Given the description of an element on the screen output the (x, y) to click on. 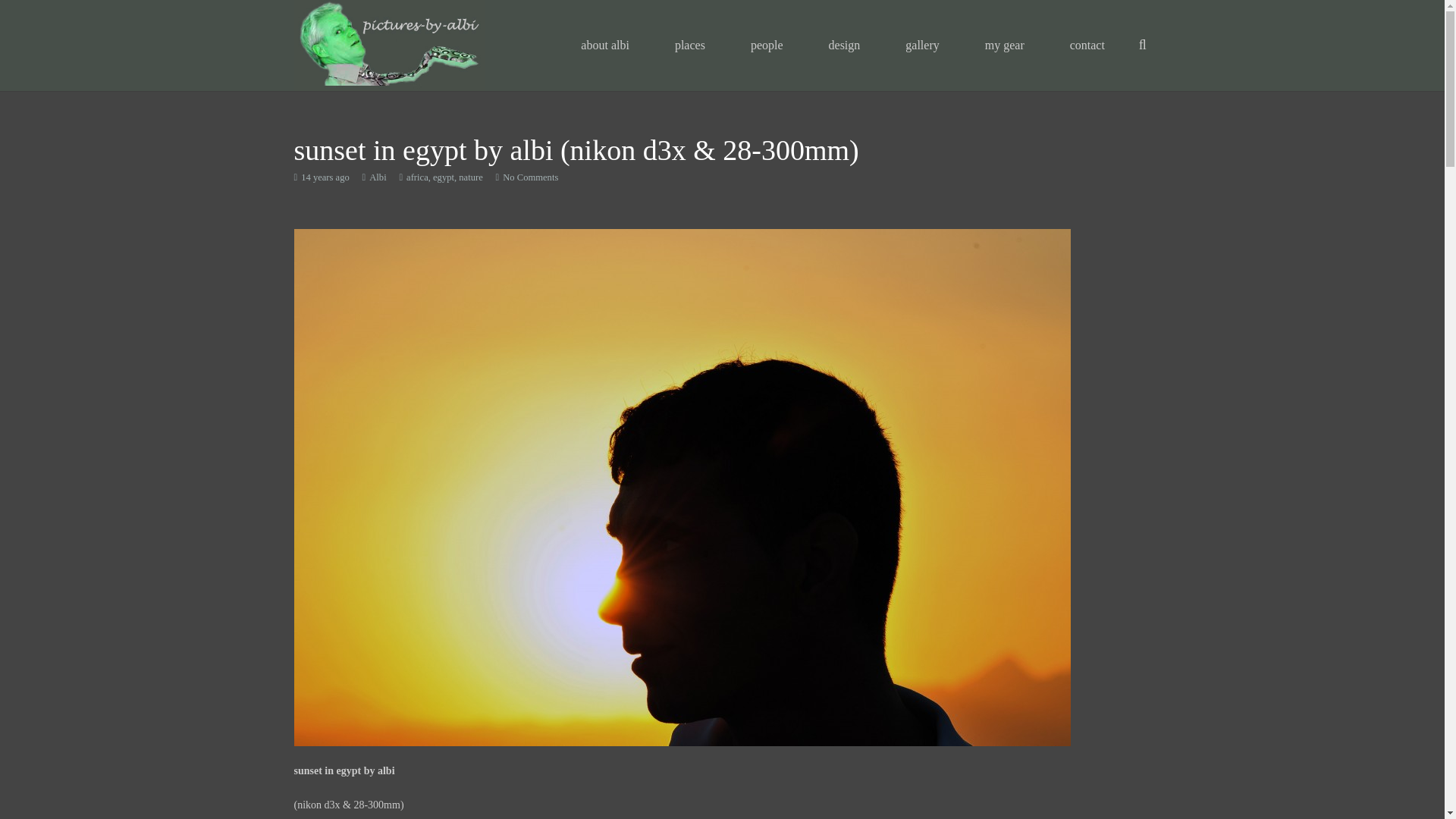
No Comments (529, 176)
about albi (604, 45)
albi about albi (604, 45)
